Given the description of an element on the screen output the (x, y) to click on. 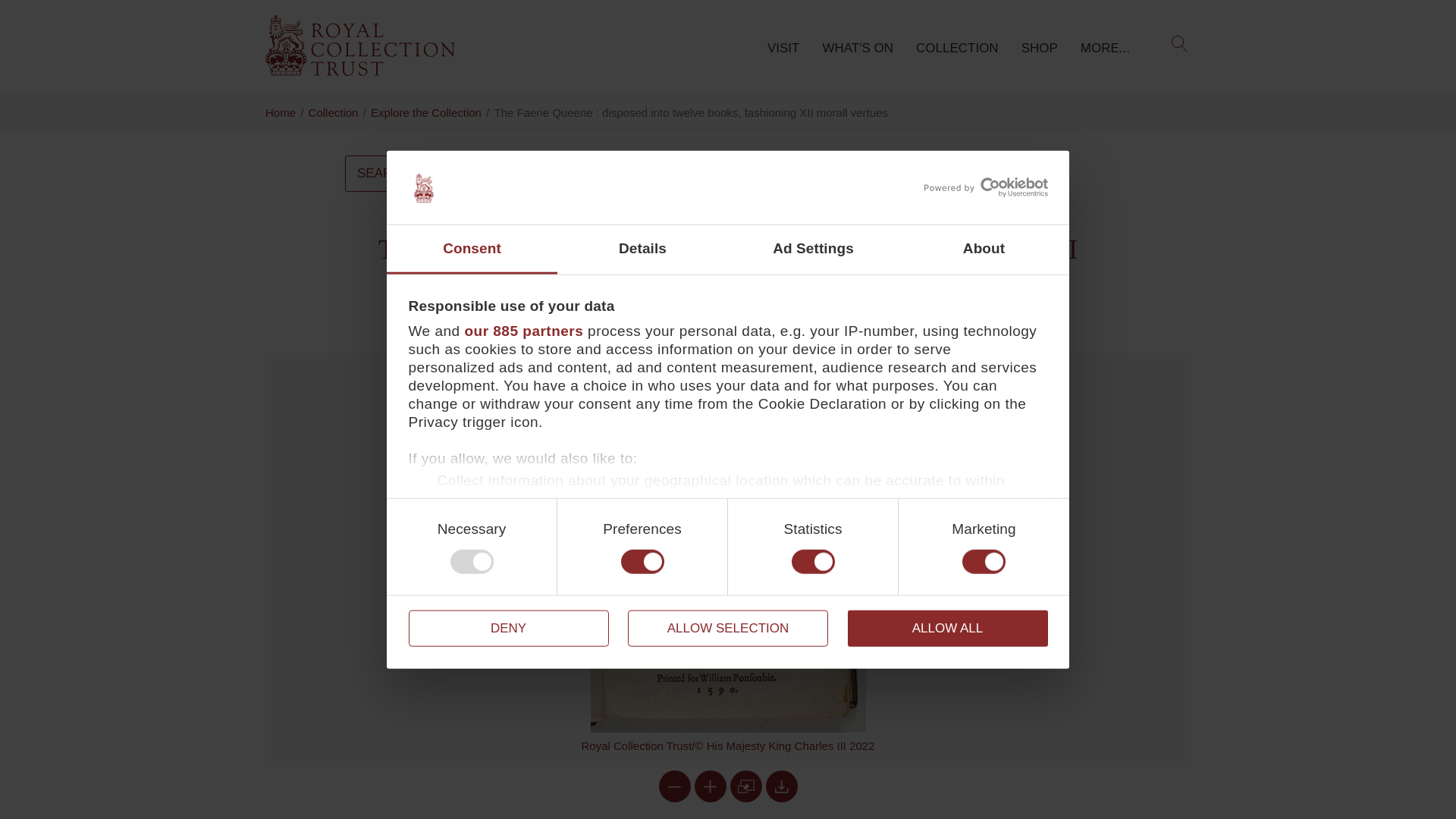
Ad Settings (813, 249)
Consent (472, 249)
our 885 partners (523, 330)
Details (642, 249)
About (983, 249)
details section (460, 556)
